Given the description of an element on the screen output the (x, y) to click on. 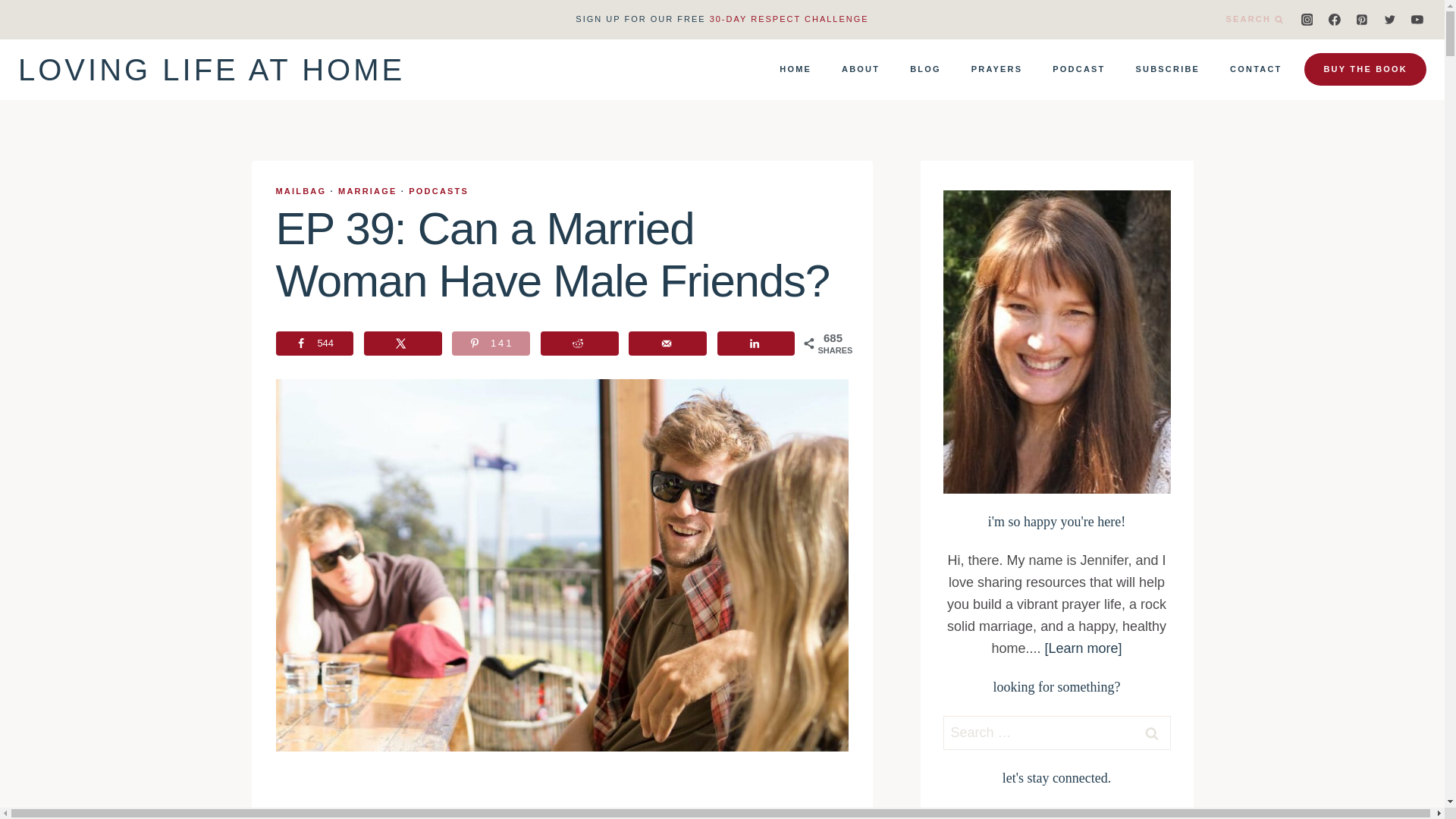
141 (490, 343)
30-DAY RESPECT CHALLENGE (789, 18)
PRAYERS (997, 69)
HOME (795, 69)
BLOG (925, 69)
Send over email (667, 343)
544 (314, 343)
Search (1151, 732)
MAILBAG (301, 190)
BUY THE BOOK (1365, 69)
LOVING LIFE AT HOME (210, 69)
SEARCH (1254, 20)
ABOUT (861, 69)
Search (1151, 732)
Share on Reddit (579, 343)
